Given the description of an element on the screen output the (x, y) to click on. 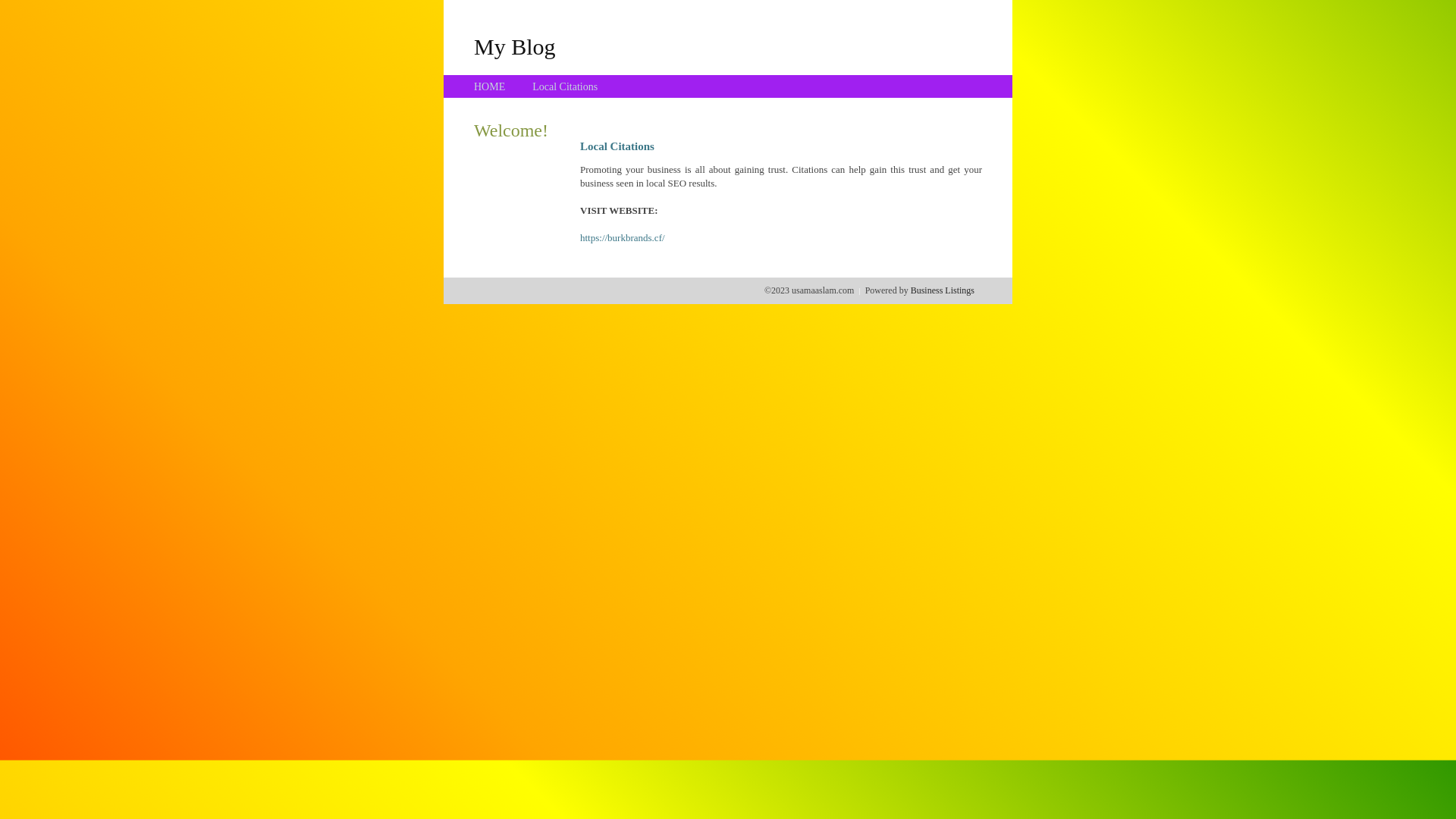
Local Citations Element type: text (564, 86)
Business Listings Element type: text (942, 290)
https://burkbrands.cf/ Element type: text (622, 237)
My Blog Element type: text (514, 46)
HOME Element type: text (489, 86)
